Given the description of an element on the screen output the (x, y) to click on. 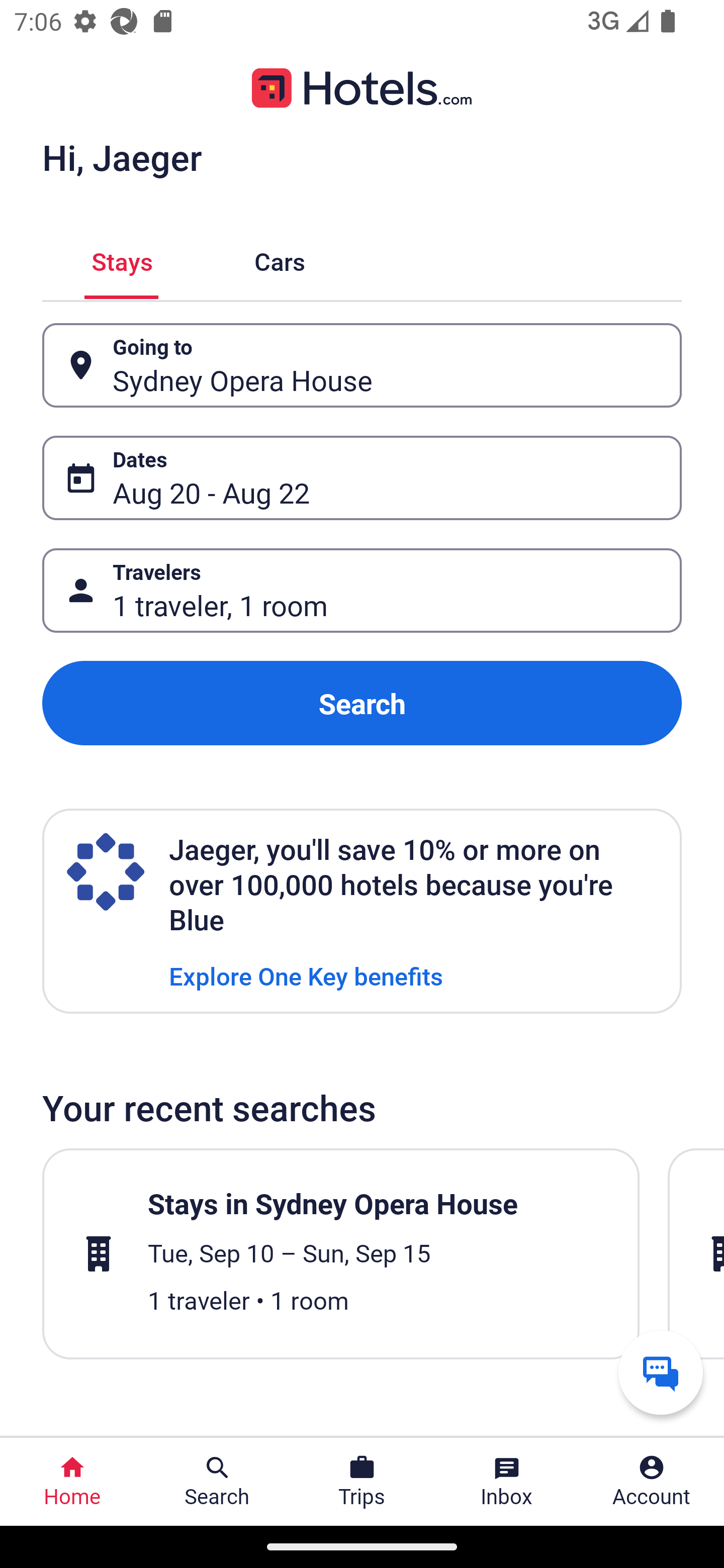
Hi, Jaeger (121, 156)
Cars (279, 259)
Going to Button Sydney Opera House (361, 365)
Dates Button Aug 20 - Aug 22 (361, 477)
Travelers Button 1 traveler, 1 room (361, 590)
Search (361, 702)
Get help from a virtual agent (660, 1371)
Search Search Button (216, 1481)
Trips Trips Button (361, 1481)
Inbox Inbox Button (506, 1481)
Account Profile. Button (651, 1481)
